Given the description of an element on the screen output the (x, y) to click on. 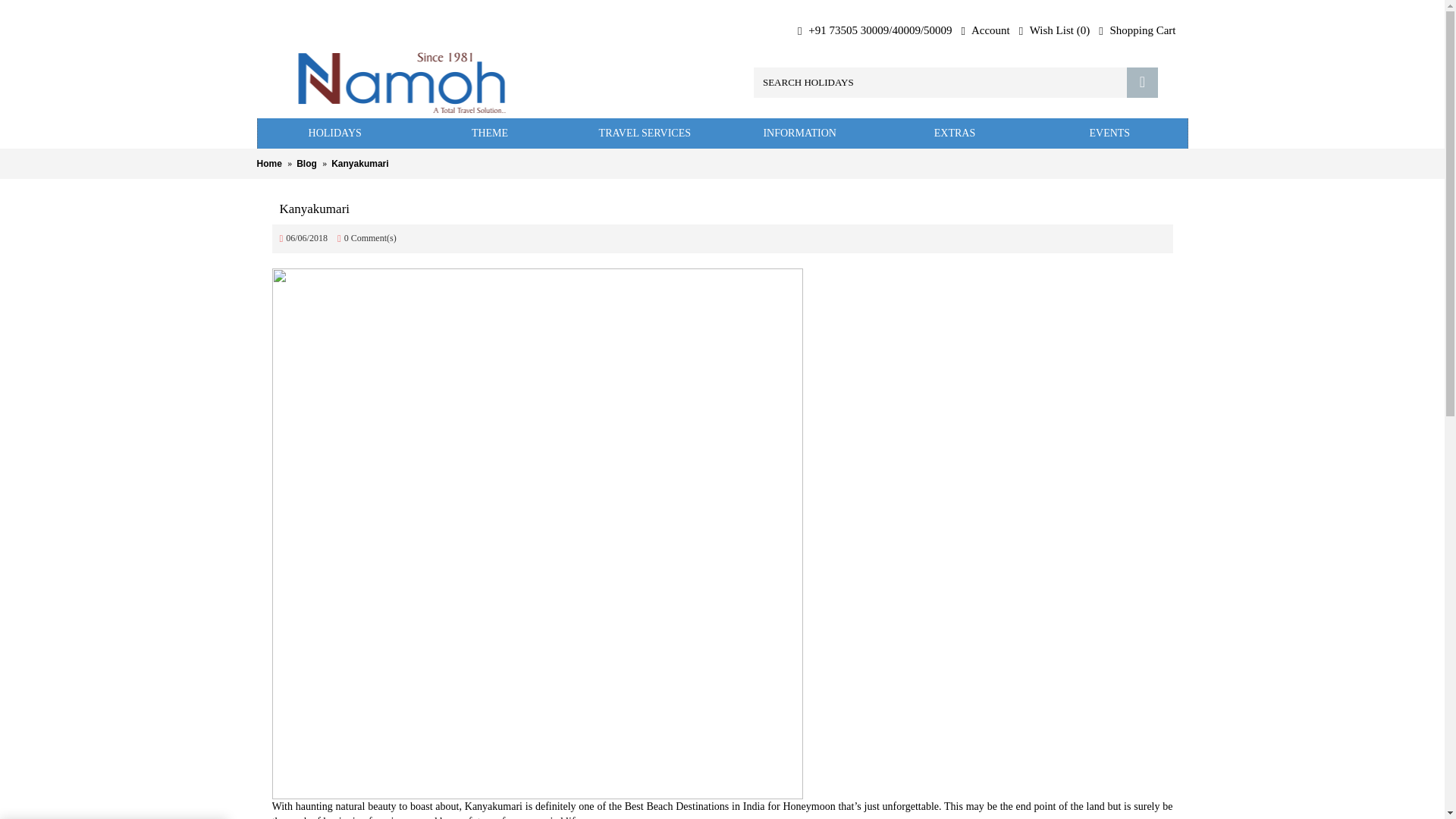
HOLIDAYS (334, 132)
NAMOH RETAILS PRIVATE LIMITED (401, 81)
TRAVEL SERVICES (644, 132)
Shopping Cart (1136, 30)
Account (985, 30)
THEME (489, 132)
INFORMATION (799, 132)
